Given the description of an element on the screen output the (x, y) to click on. 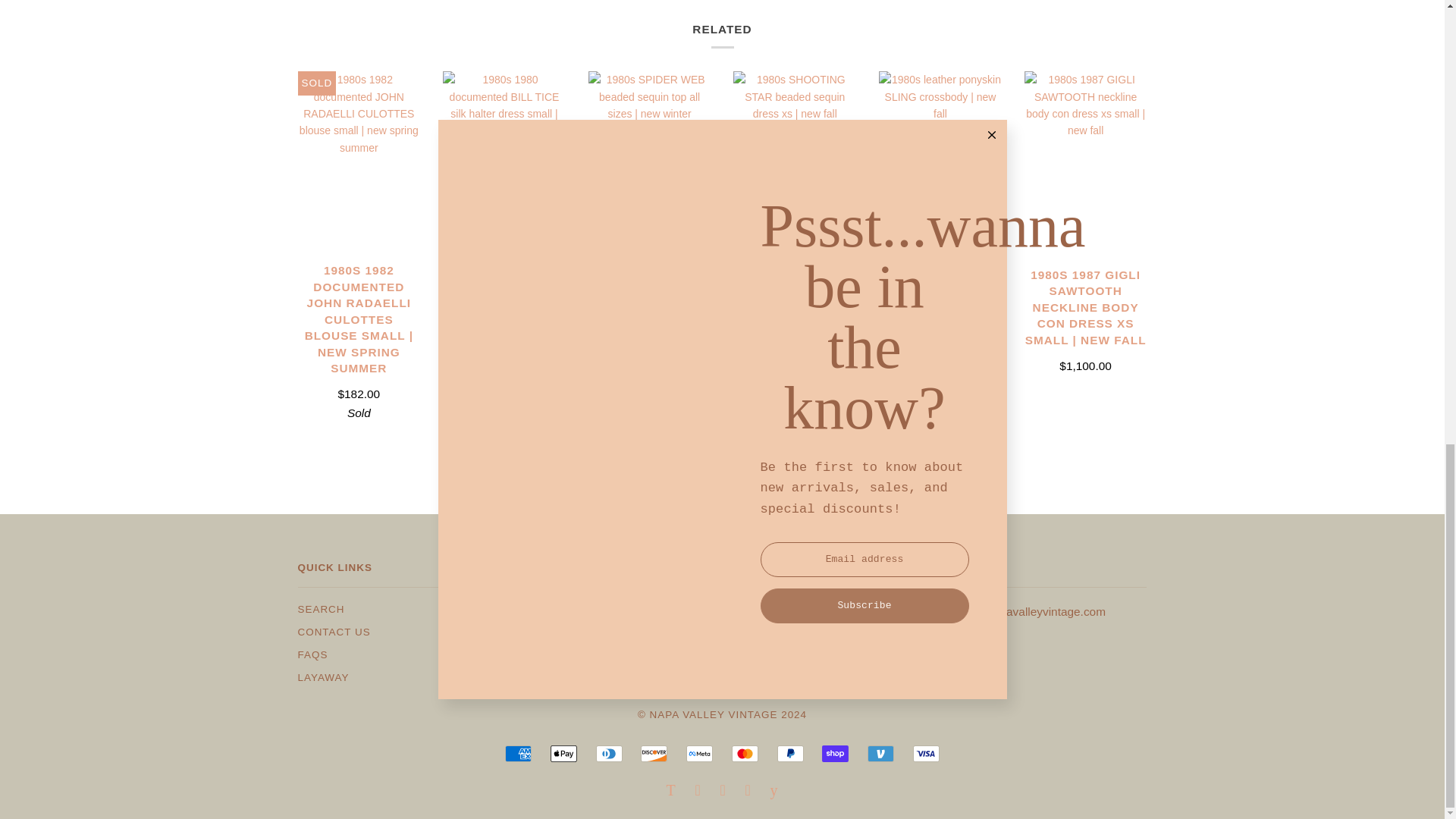
SHOP PAY (835, 753)
DISCOVER (653, 753)
VISA (925, 753)
MASTERCARD (745, 753)
APPLE PAY (563, 753)
AMERICAN EXPRESS (518, 753)
DINERS CLUB (609, 753)
META PAY (699, 753)
PAYPAL (790, 753)
VENMO (880, 753)
